Given the description of an element on the screen output the (x, y) to click on. 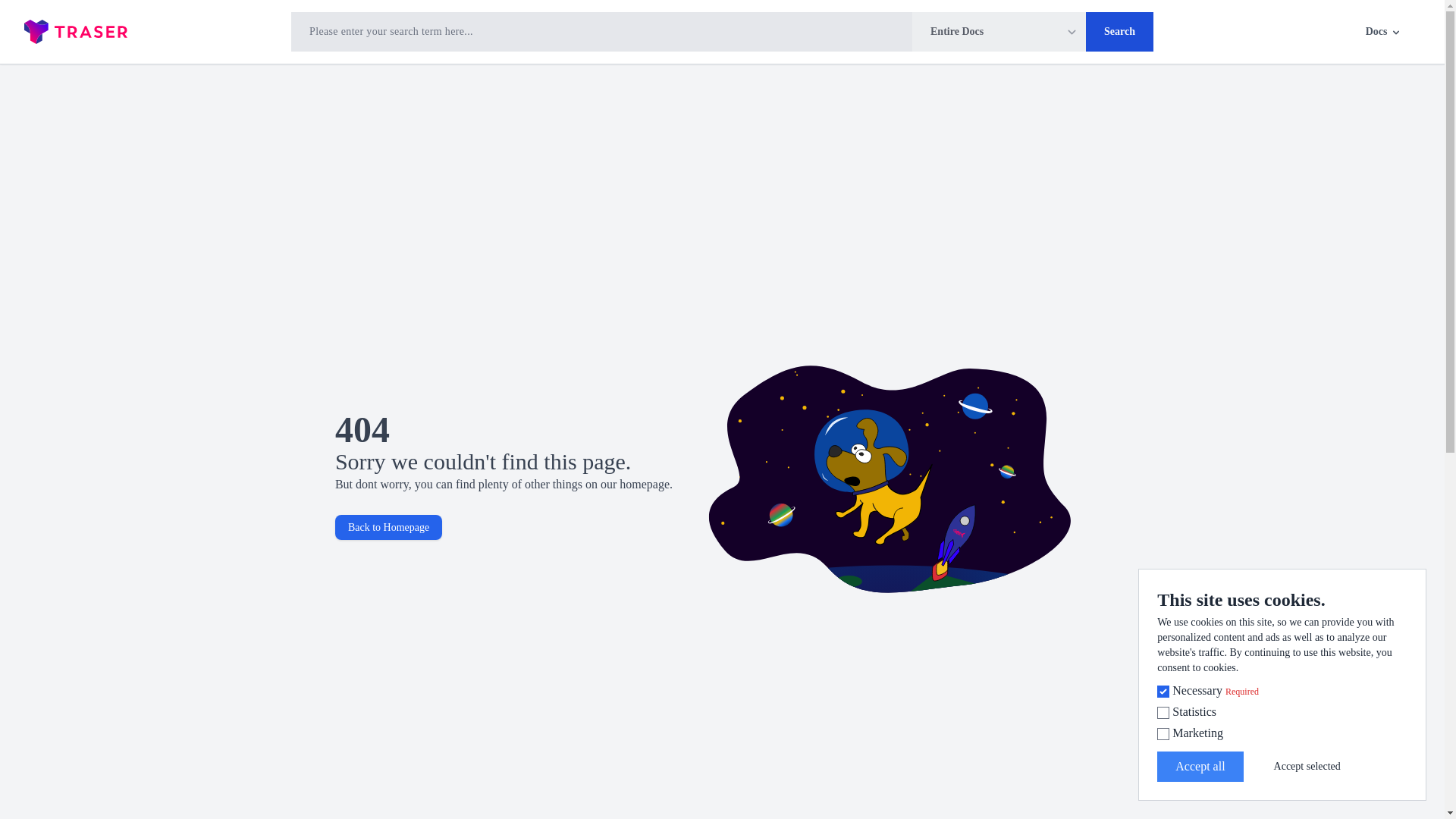
Accept all (1200, 766)
Search (1119, 31)
Docs (1384, 31)
Accept selected (1306, 766)
Back to Homepage (388, 527)
